Given the description of an element on the screen output the (x, y) to click on. 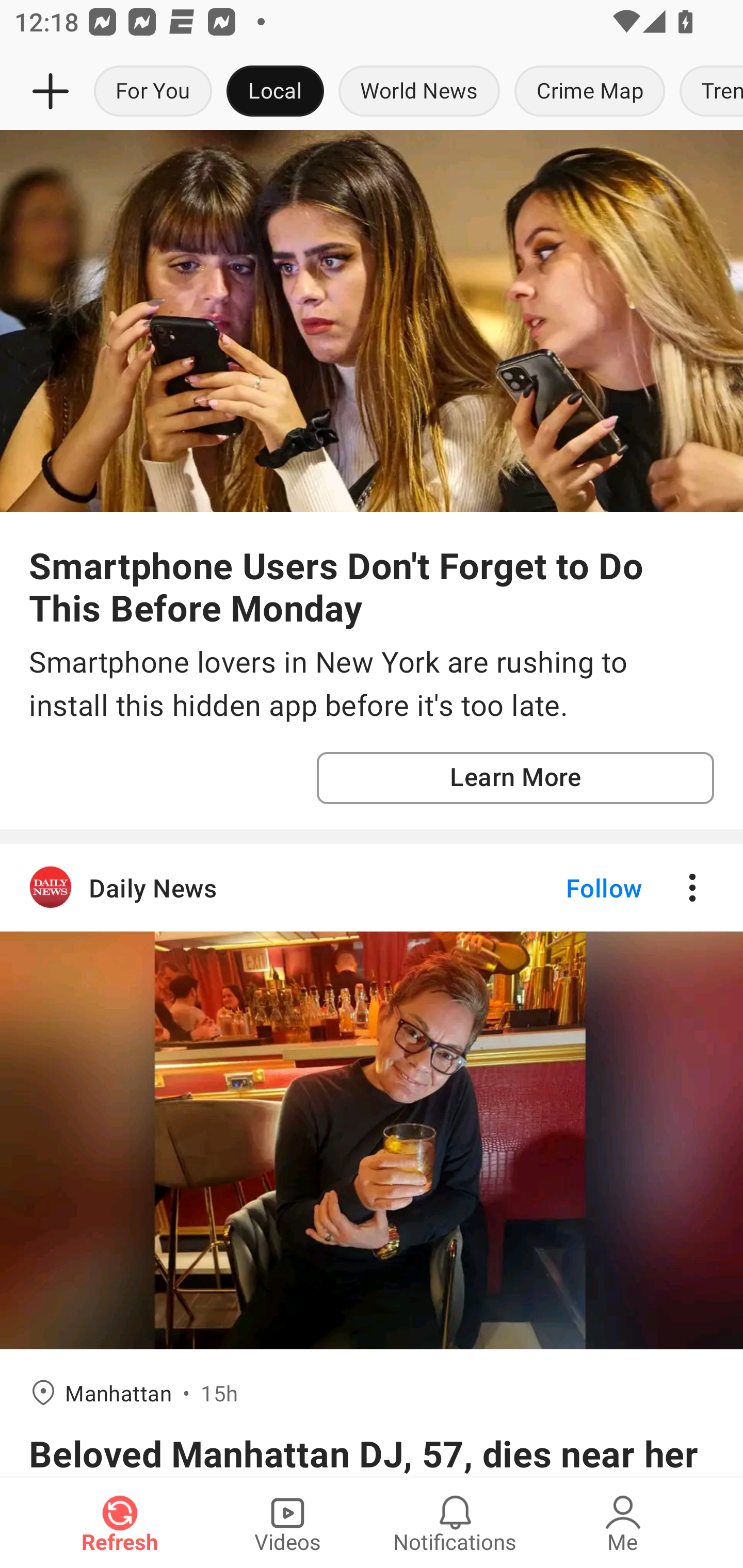
For You (152, 91)
Local (275, 91)
World News (419, 91)
Crime Map (589, 91)
Learn More (515, 778)
Daily News Follow (371, 887)
Follow (569, 887)
Videos (287, 1522)
Notifications (455, 1522)
Me (622, 1522)
